Given the description of an element on the screen output the (x, y) to click on. 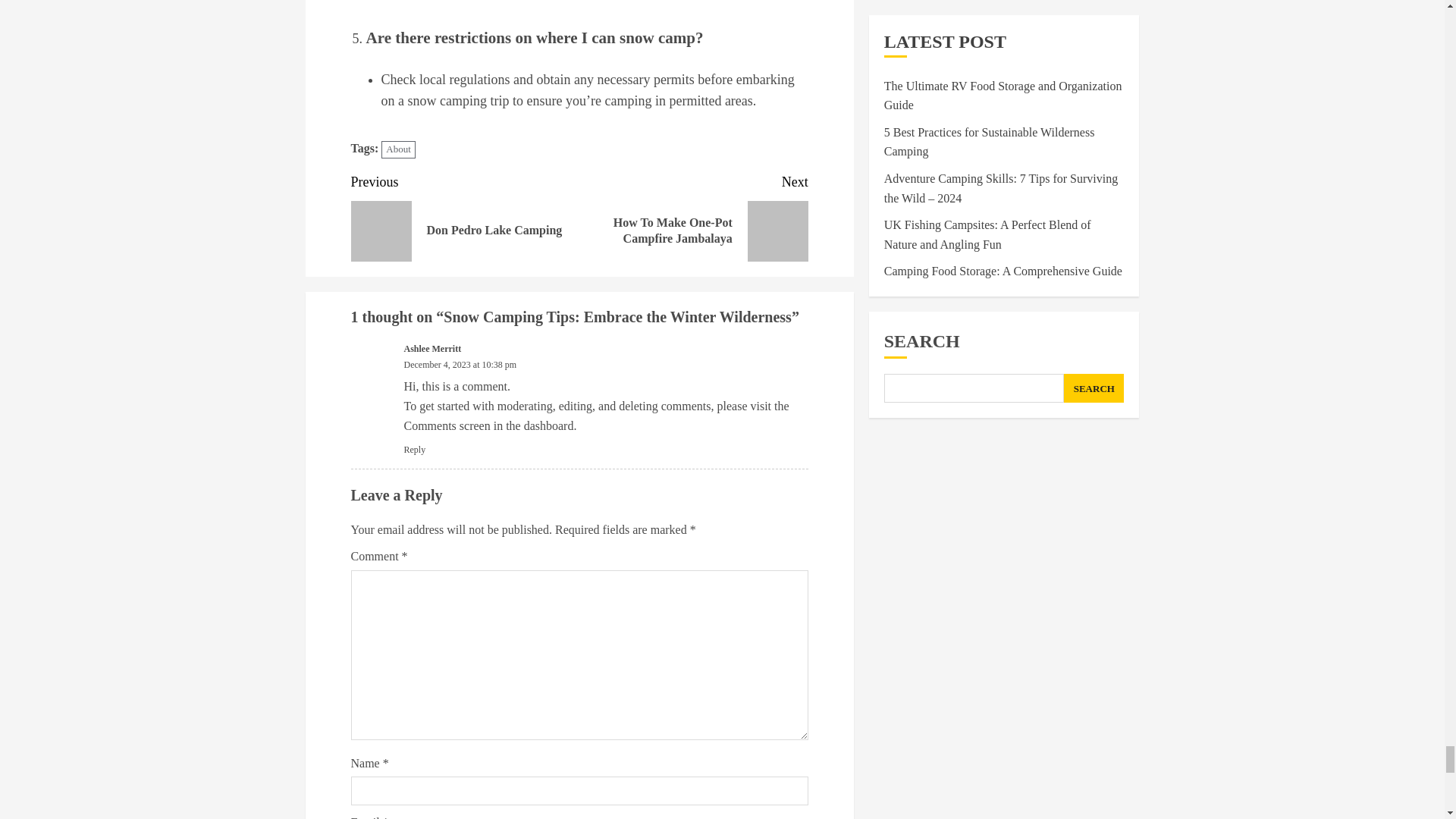
December 4, 2023 at 10:38 pm (459, 365)
Ashlee Merritt (432, 348)
About (397, 149)
Reply (464, 216)
